Given the description of an element on the screen output the (x, y) to click on. 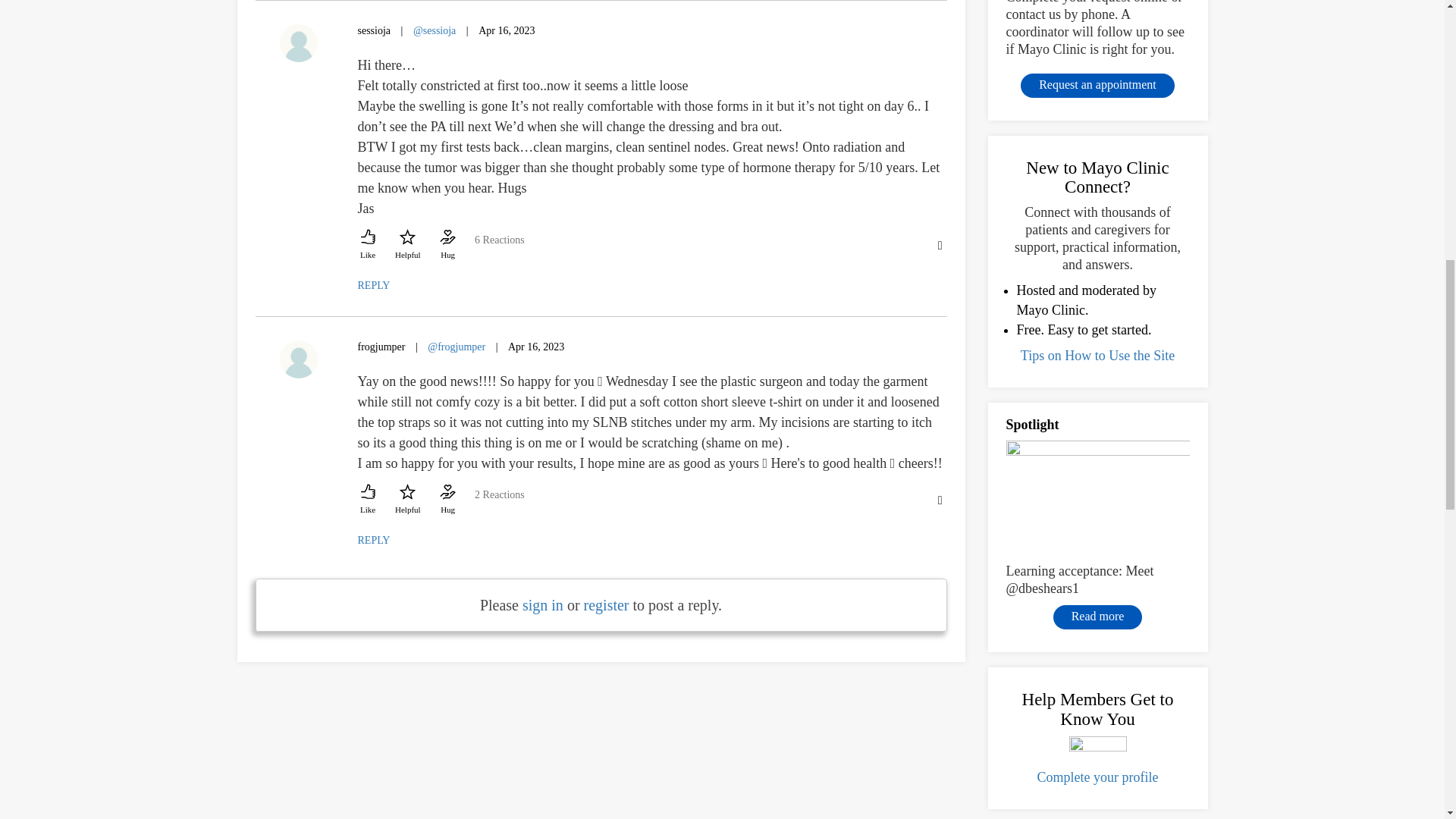
Like (368, 244)
Helpful (407, 244)
